Given the description of an element on the screen output the (x, y) to click on. 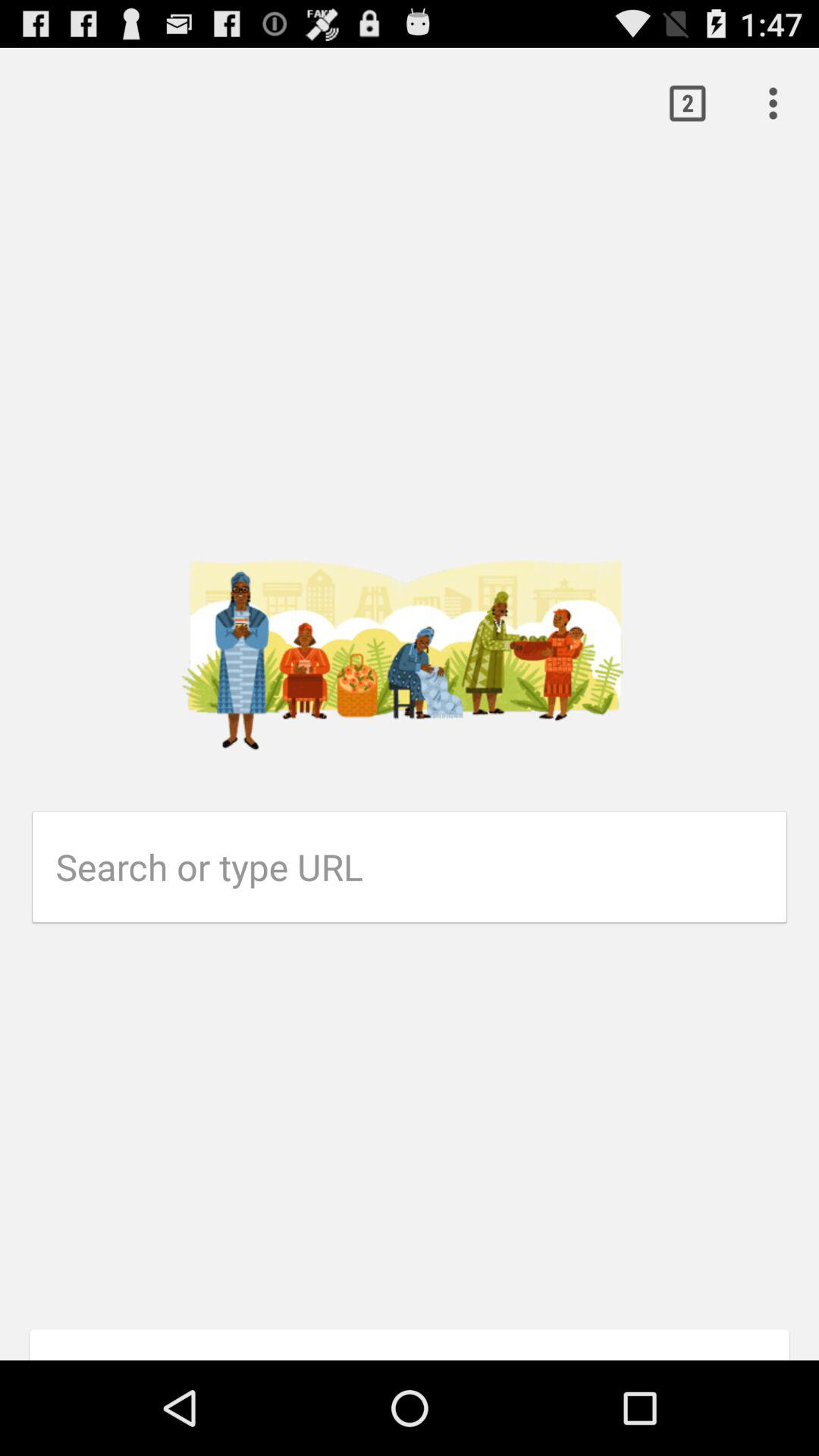
go to search (421, 866)
